Given the description of an element on the screen output the (x, y) to click on. 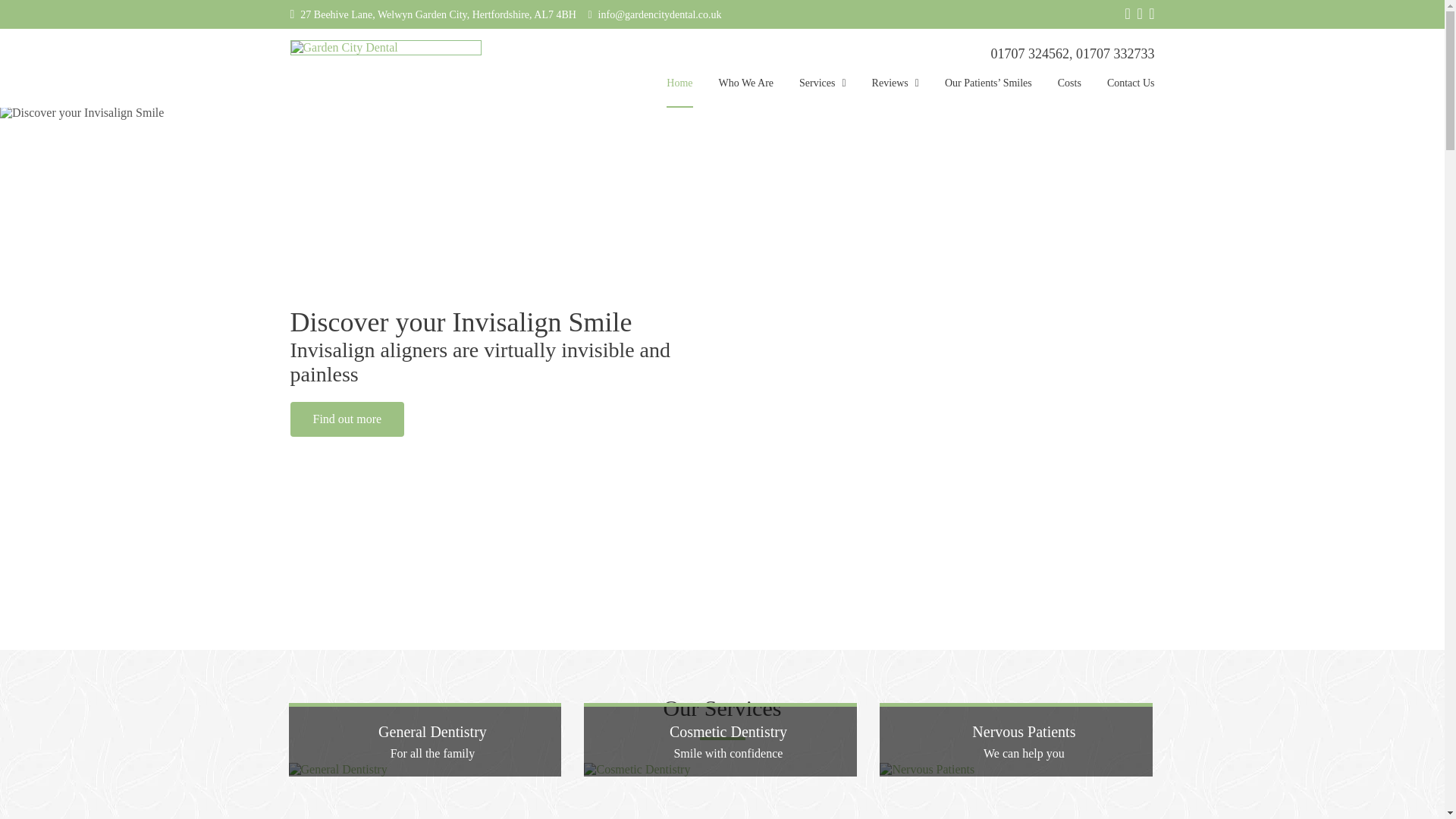
Garden City Dental (384, 47)
01707 324562 (1029, 53)
Reviews (895, 91)
01707 332733 (1114, 53)
Services (822, 91)
Who We Are (746, 91)
Find out more (346, 419)
Contact Us (1130, 91)
